Given the description of an element on the screen output the (x, y) to click on. 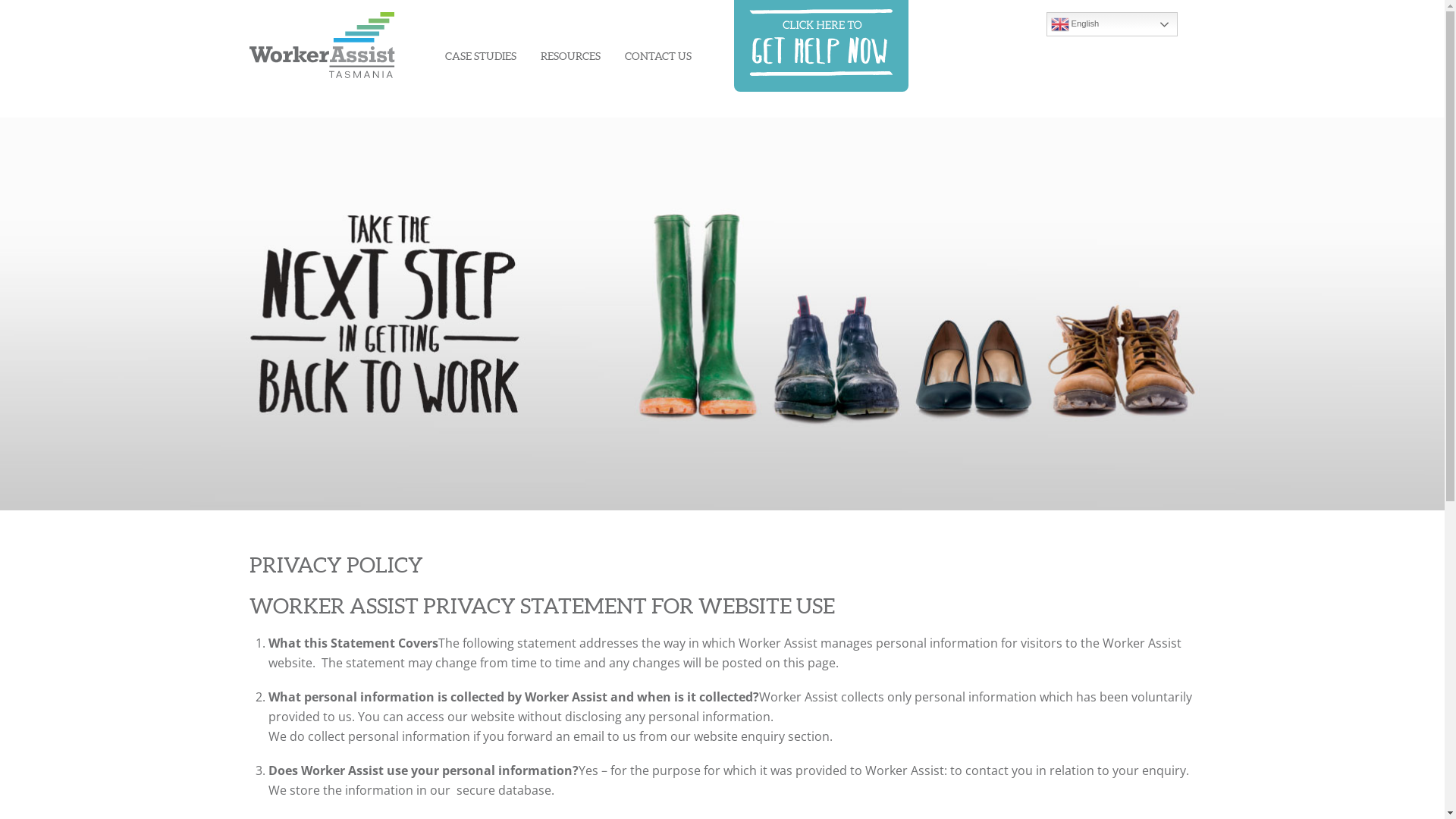
CASE STUDIES Element type: text (479, 55)
RESOURCES Element type: text (569, 55)
CONTACT US Element type: text (657, 55)
English Element type: text (1111, 24)
